Given the description of an element on the screen output the (x, y) to click on. 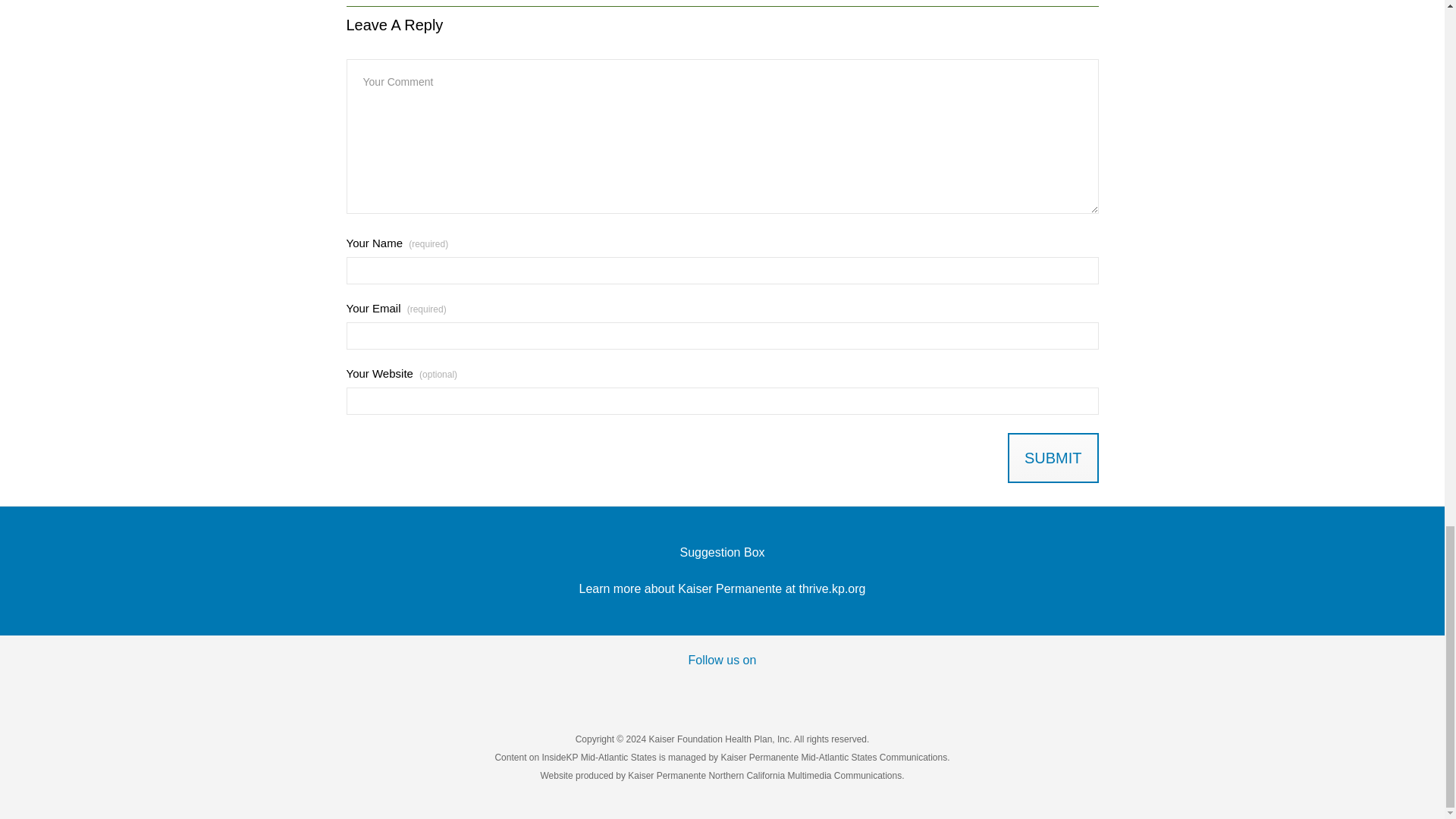
Learn more about Kaiser Permanente at thrive.kp.org (722, 588)
Twitter (691, 689)
Submit (1053, 458)
Facebook (629, 689)
Suggestion Box (721, 552)
Submit (1053, 458)
Linkdin (815, 689)
Youtube (753, 689)
